Given the description of an element on the screen output the (x, y) to click on. 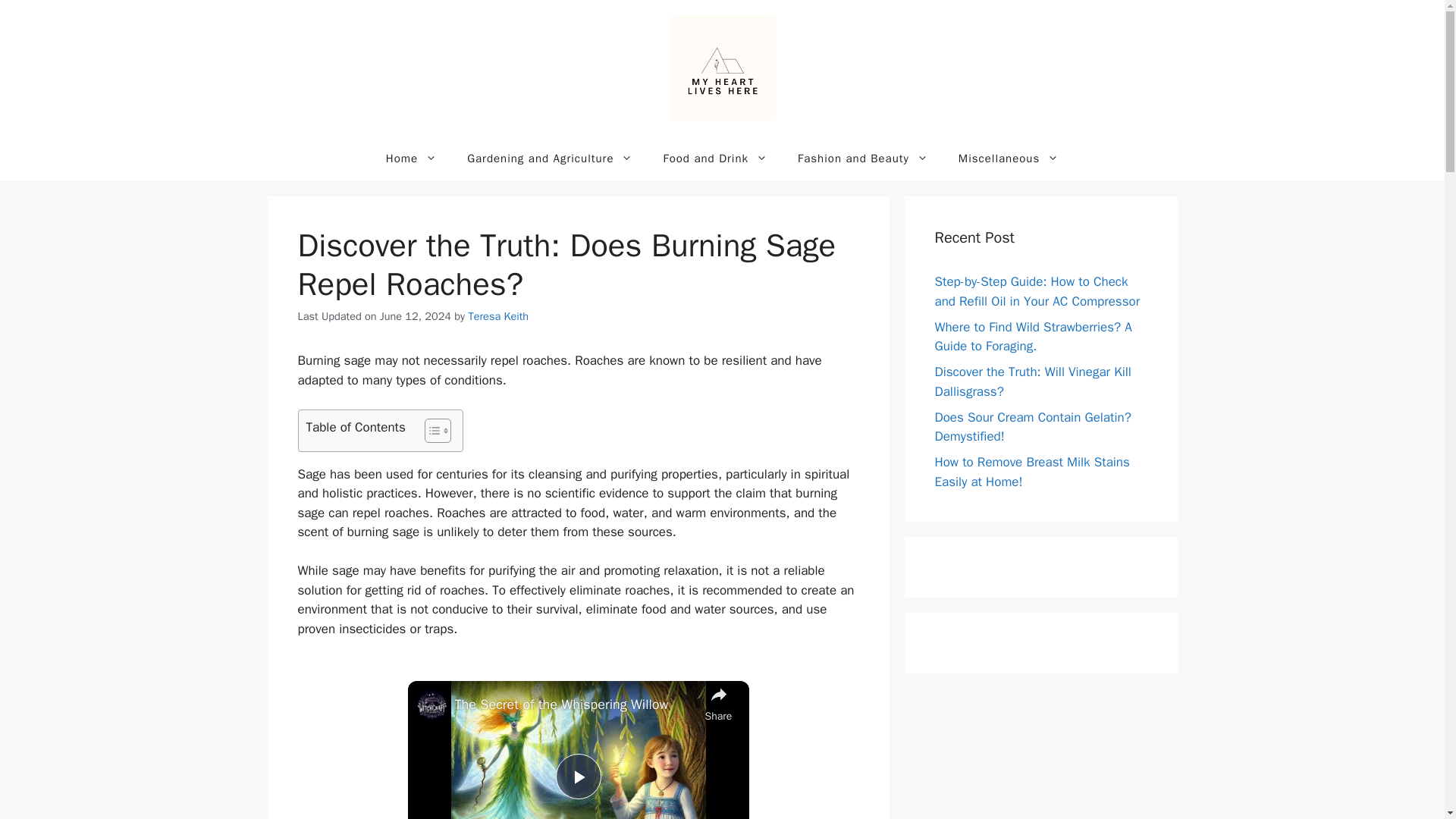
Miscellaneous (1008, 157)
Fashion and Beauty (863, 157)
Food and Drink (715, 157)
Play Video (576, 776)
Play Video (576, 776)
Home (411, 157)
Teresa Keith (498, 315)
Gardening and Agriculture (549, 157)
View all posts by Teresa Keith (498, 315)
